Given the description of an element on the screen output the (x, y) to click on. 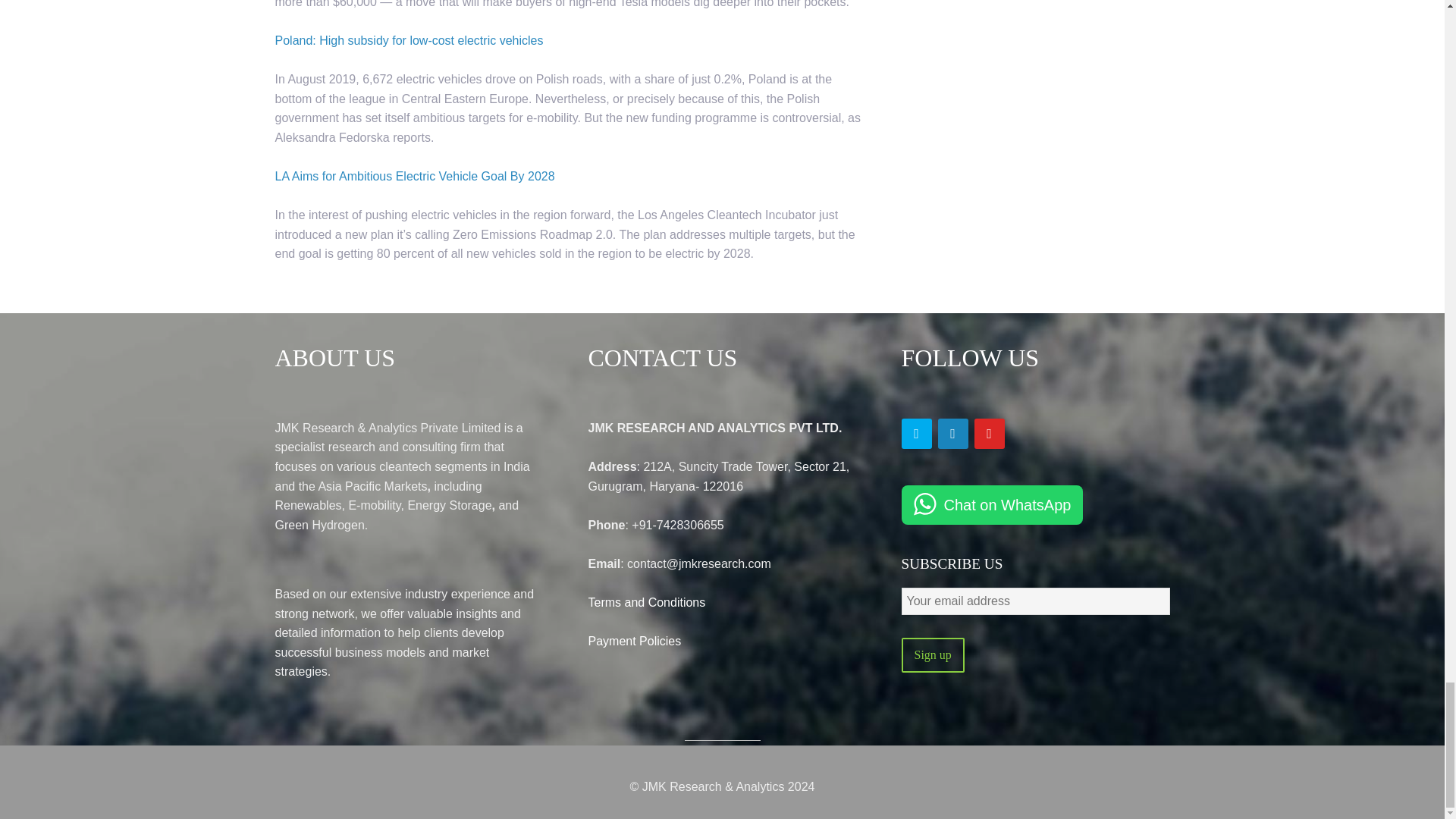
YouTube (989, 433)
LinkedIn (952, 433)
Sign up (932, 655)
Twitter (916, 433)
